Given the description of an element on the screen output the (x, y) to click on. 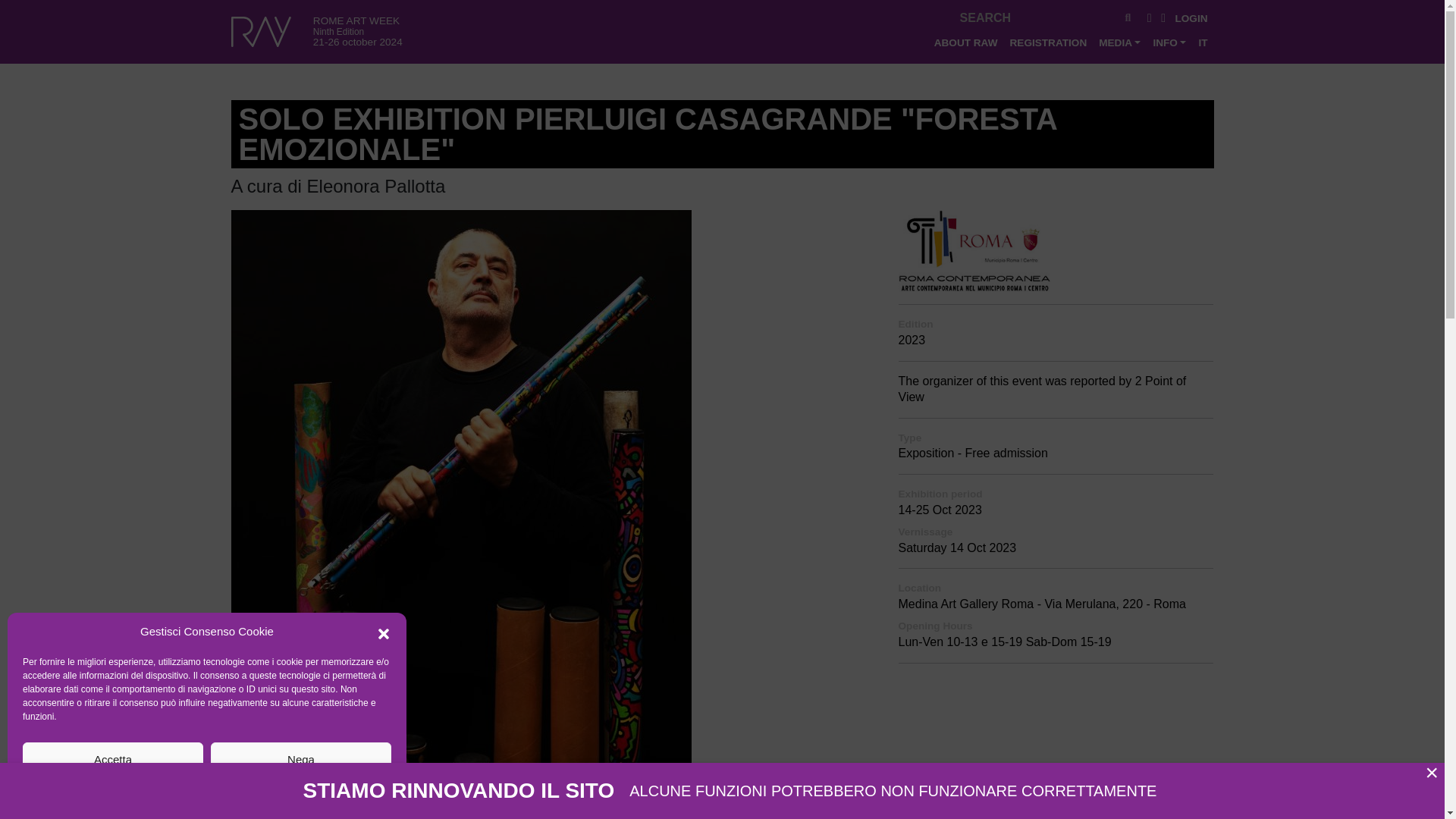
INFO (1169, 43)
Solo exhibition Pierluigi Casagrande "Foresta Emozionale" (460, 624)
MEDIA (1120, 43)
REGISTRATION (1048, 43)
Cookie Policy (174, 791)
Privacy Policy (237, 791)
Nega (301, 759)
Accetta (113, 759)
ABOUT RAW (966, 43)
LOGIN (1190, 17)
